Given the description of an element on the screen output the (x, y) to click on. 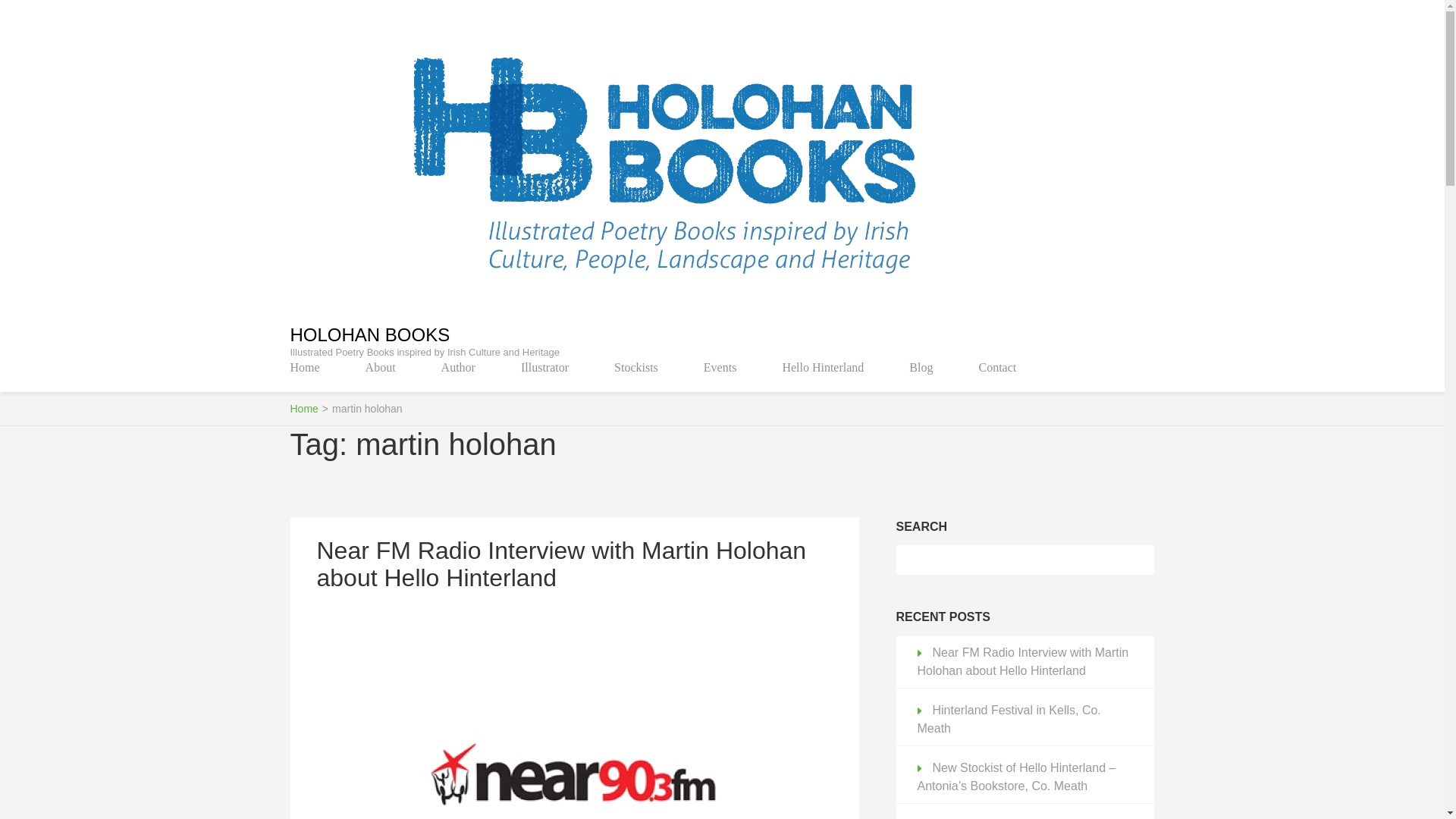
Contact (997, 367)
About (380, 367)
Hello Hinterland (822, 367)
Home (303, 367)
Illustrator (545, 367)
Blog (920, 367)
Author (458, 367)
Stockists (636, 367)
HOLOHAN BOOKS (369, 334)
Events (719, 367)
Home (303, 408)
